Given the description of an element on the screen output the (x, y) to click on. 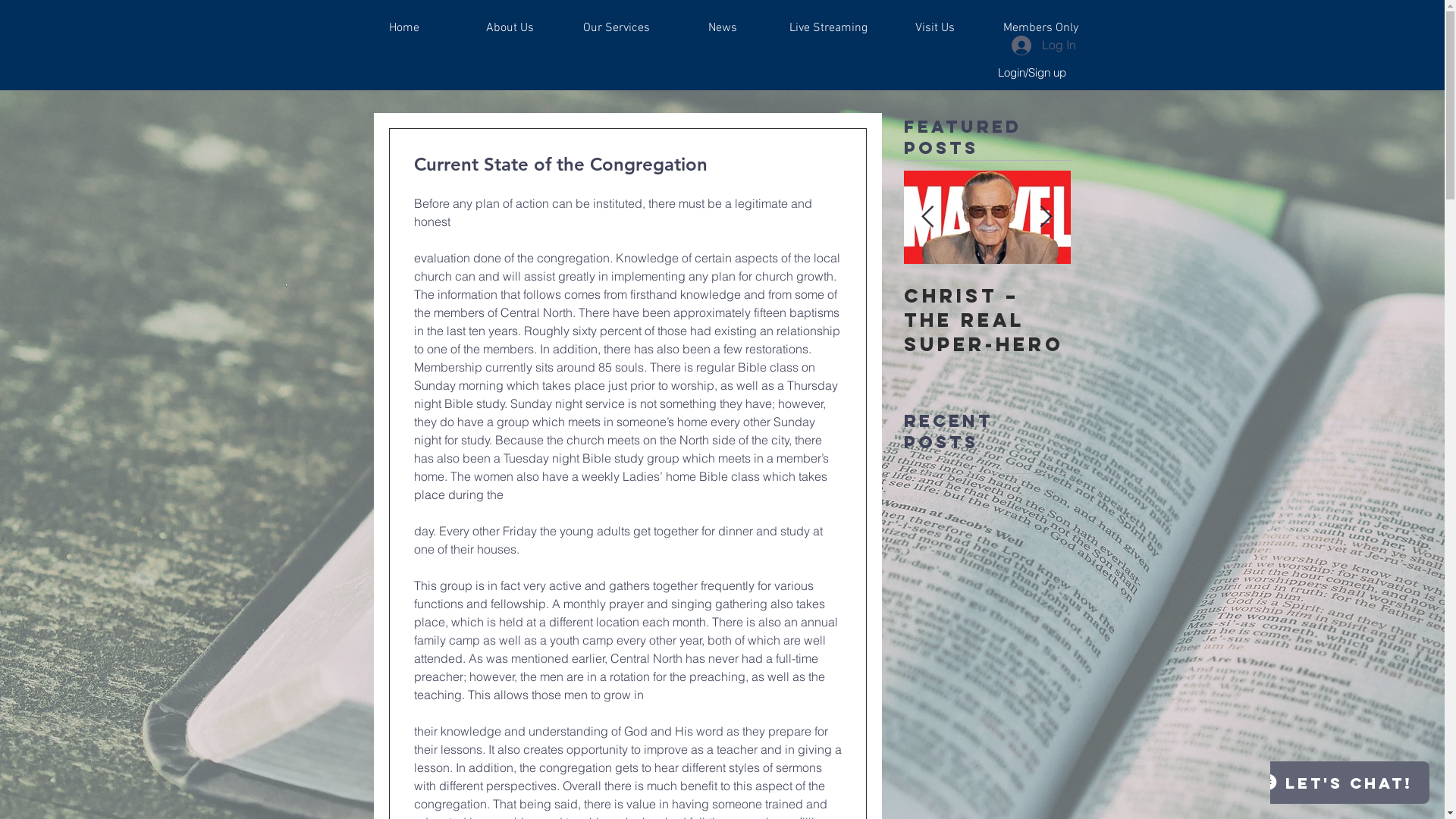
Home Element type: text (403, 28)
Our Services Element type: text (615, 28)
About Us Element type: text (509, 28)
Login/Sign up Element type: text (1031, 72)
Unexpected Answers from an Expected Source Element type: text (986, 319)
Log In Element type: text (1043, 44)
Live Streaming Element type: text (828, 28)
News Element type: text (721, 28)
Visit Us Element type: text (934, 28)
